Given the description of an element on the screen output the (x, y) to click on. 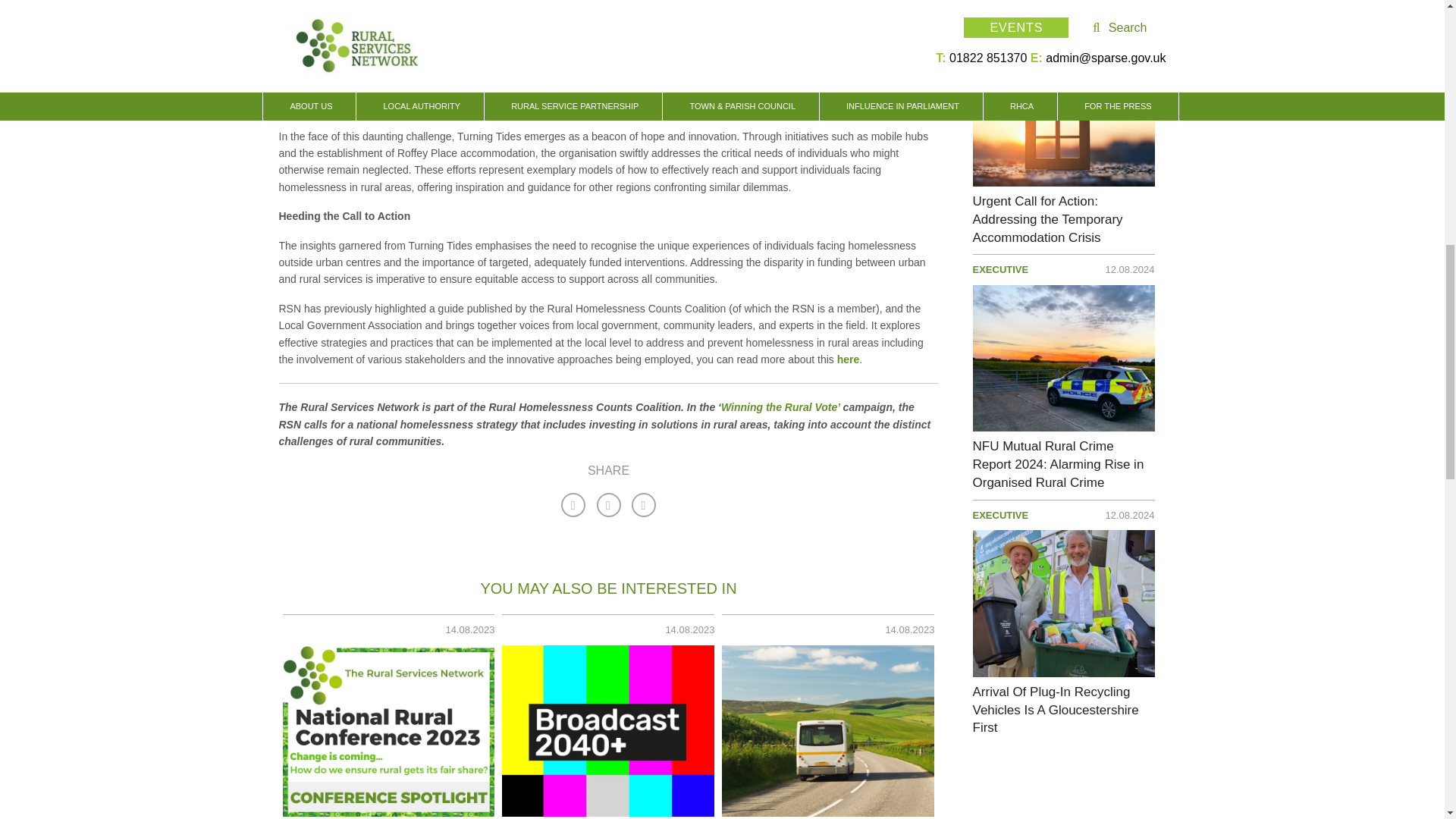
Linkedin (643, 504)
Figures show reduction in bus routes (828, 730)
Broadcast 2040 campaign stresses importance of services (608, 730)
Conference Spotlight: Focus on Rural Transport (388, 730)
Linkedin (608, 504)
Facebook (573, 504)
